Given the description of an element on the screen output the (x, y) to click on. 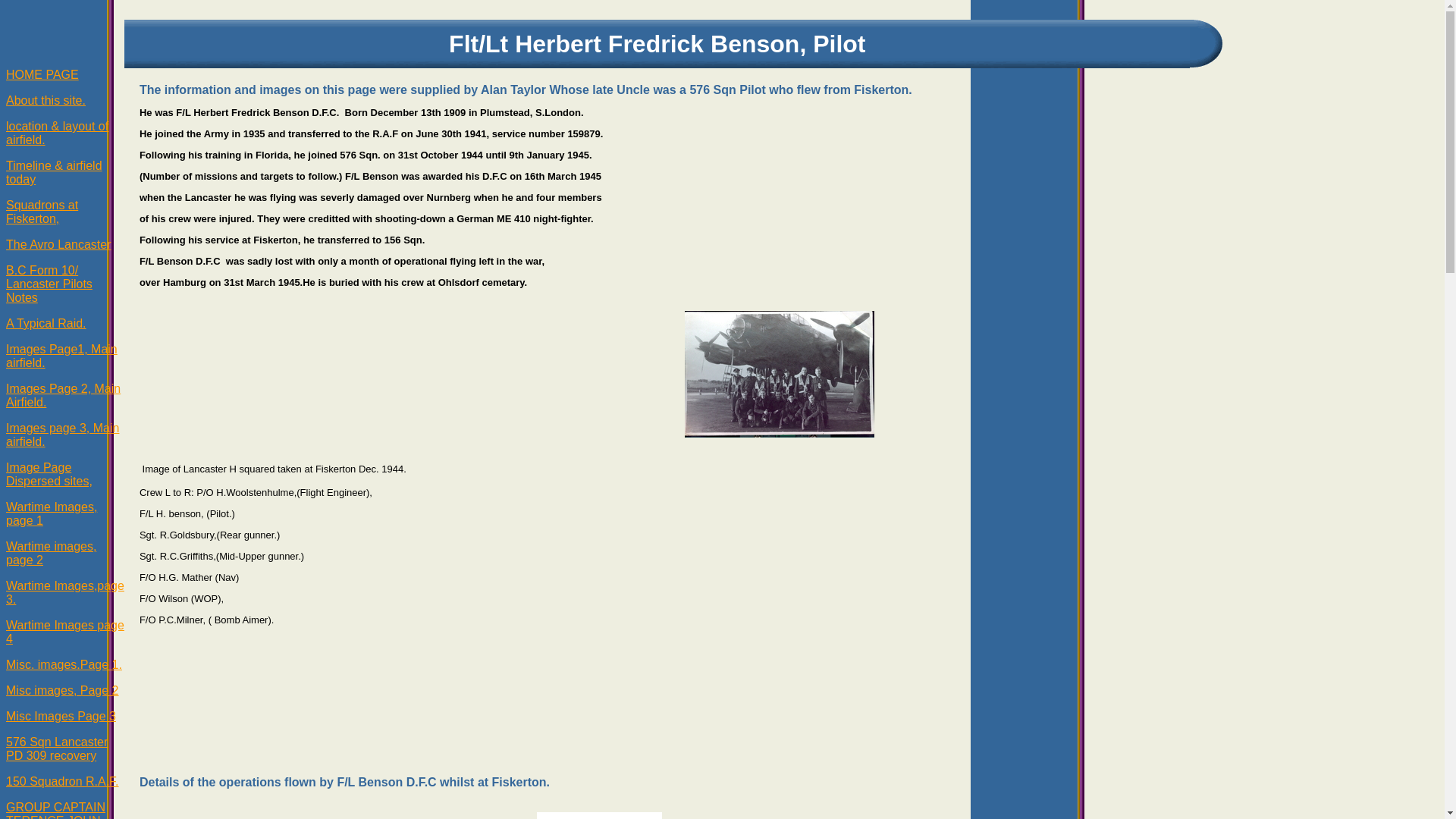
Wartime Images page 4 (64, 632)
Images page 3, Main airfield. (62, 434)
Wartime Images,page 3. (64, 592)
About this site. (45, 100)
150 Squadron R.A.F. (62, 780)
Wartime images, page 2 (50, 552)
Misc Images Page 3 (60, 716)
Misc. images.Page 1. (63, 664)
The Avro Lancaster (57, 244)
Wartime Images, page 1 (51, 513)
Images Page1, Main airfield. (61, 356)
576 Sqn Lancaster PD 309 recovery (56, 748)
Squadrons at Fiskerton, (41, 212)
Images Page 2, Main Airfield. (62, 395)
A Typical Raid. (45, 323)
